Given the description of an element on the screen output the (x, y) to click on. 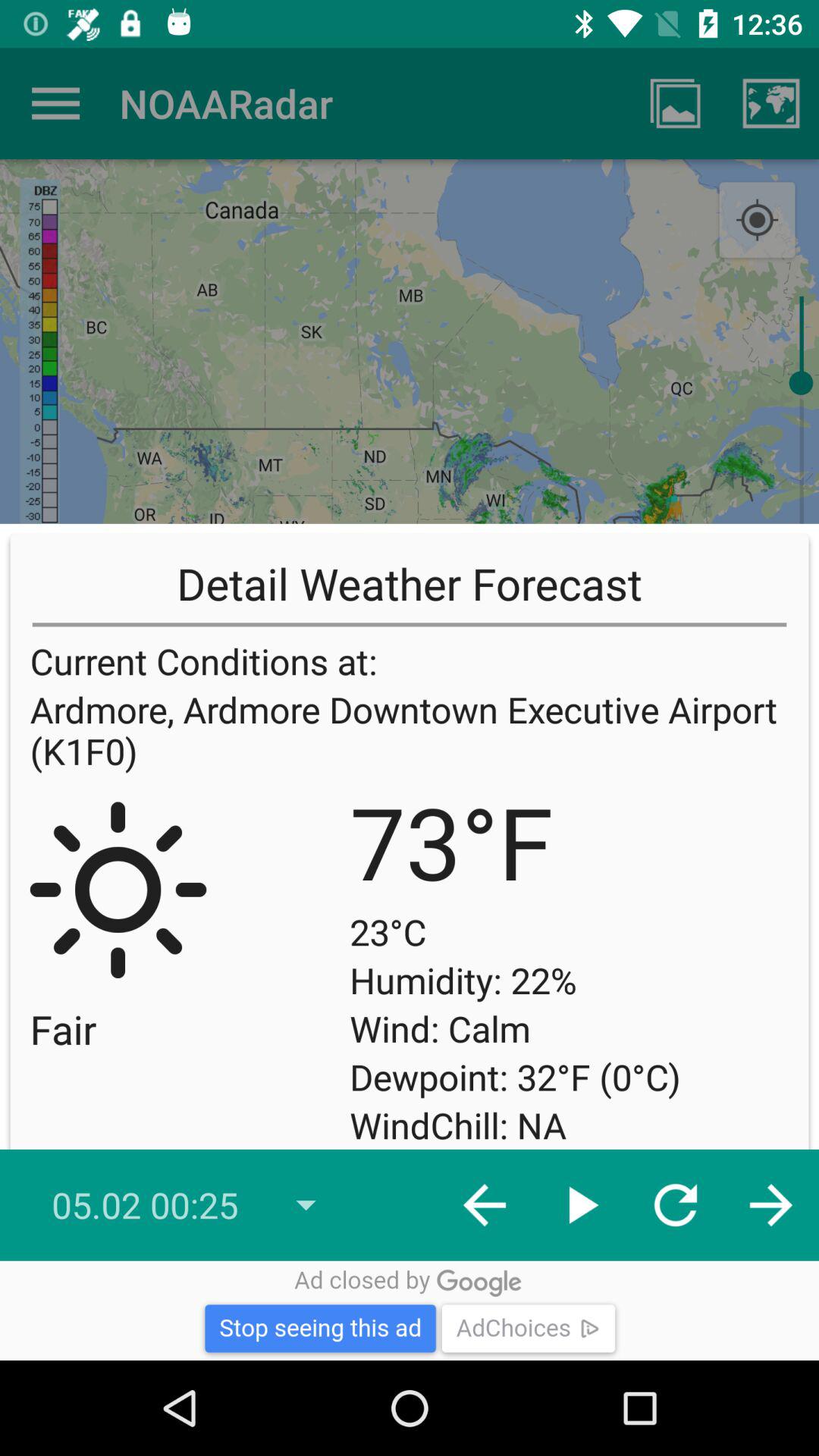
turn off app next to the noaaradar (675, 103)
